Given the description of an element on the screen output the (x, y) to click on. 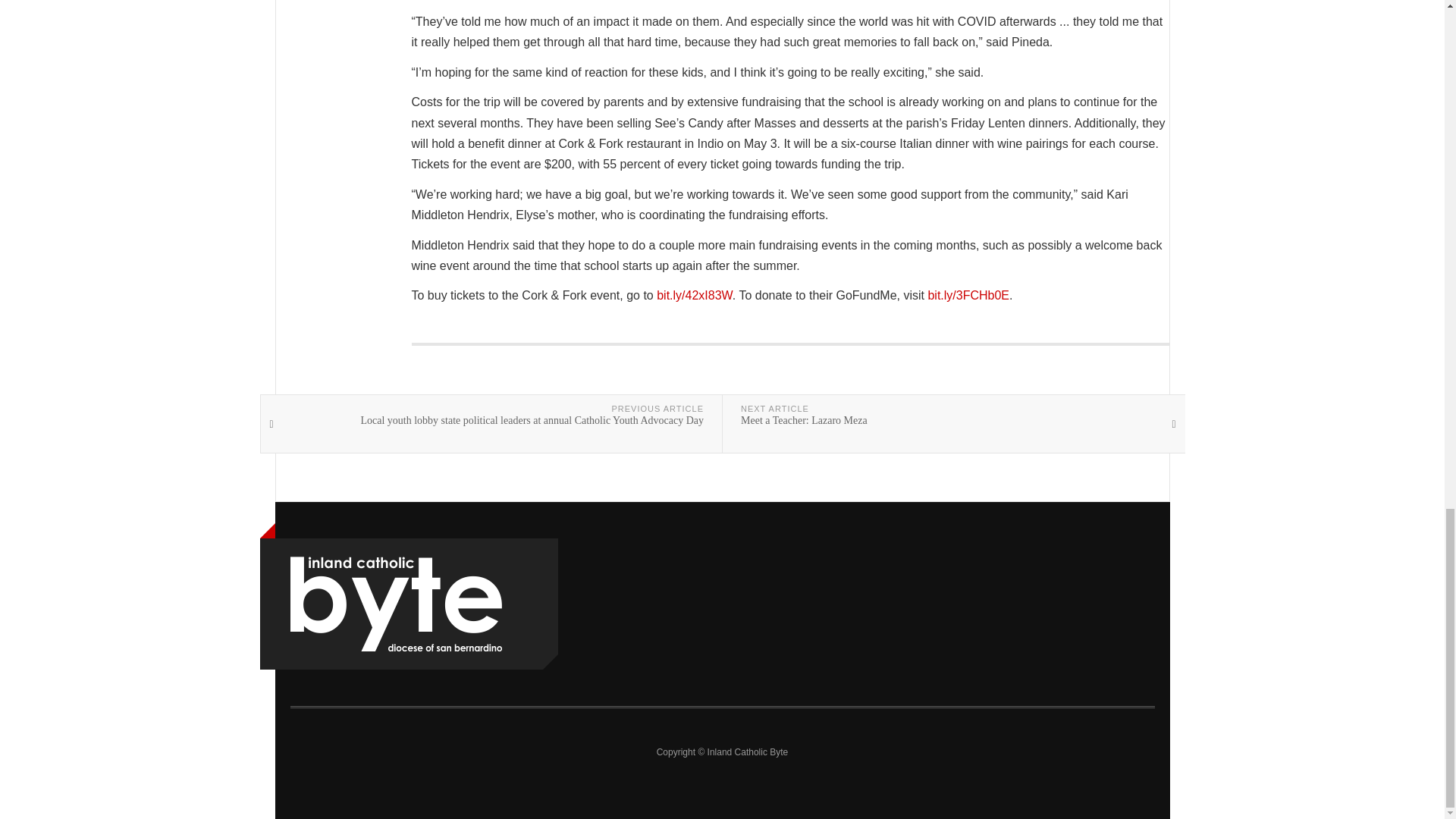
Inland Catholic Byte (394, 603)
